Given the description of an element on the screen output the (x, y) to click on. 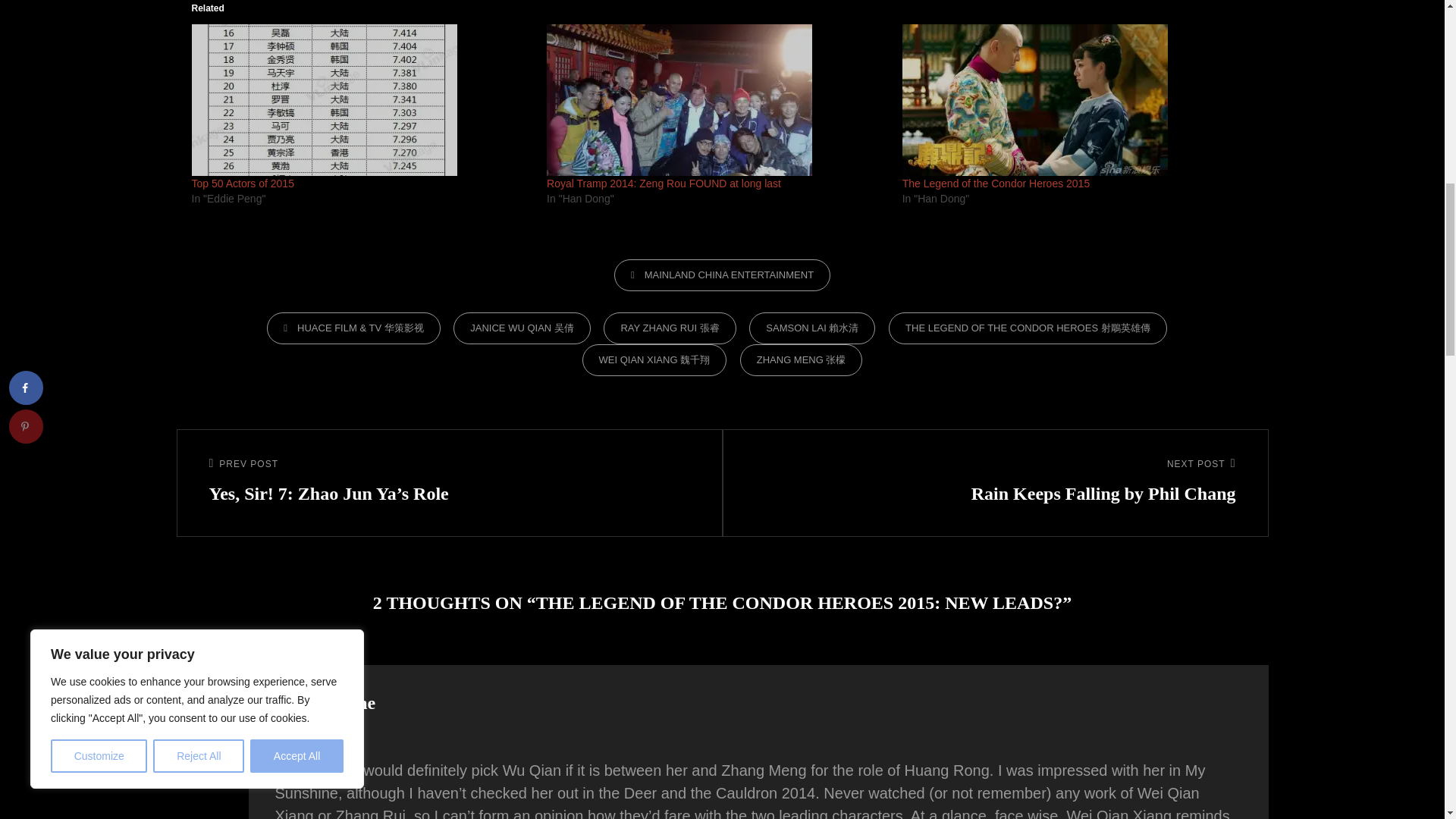
The Legend of the Condor Heroes 2015 (1072, 100)
The Legend of the Condor Heroes 2015 (996, 183)
Royal Tramp 2014: Zeng Rou FOUND at long last (716, 100)
Top 50 Actors of 2015 (360, 100)
Royal Tramp 2014: Zeng Rou FOUND at long last (663, 183)
Top 50 Actors of 2015 (242, 183)
